Given the description of an element on the screen output the (x, y) to click on. 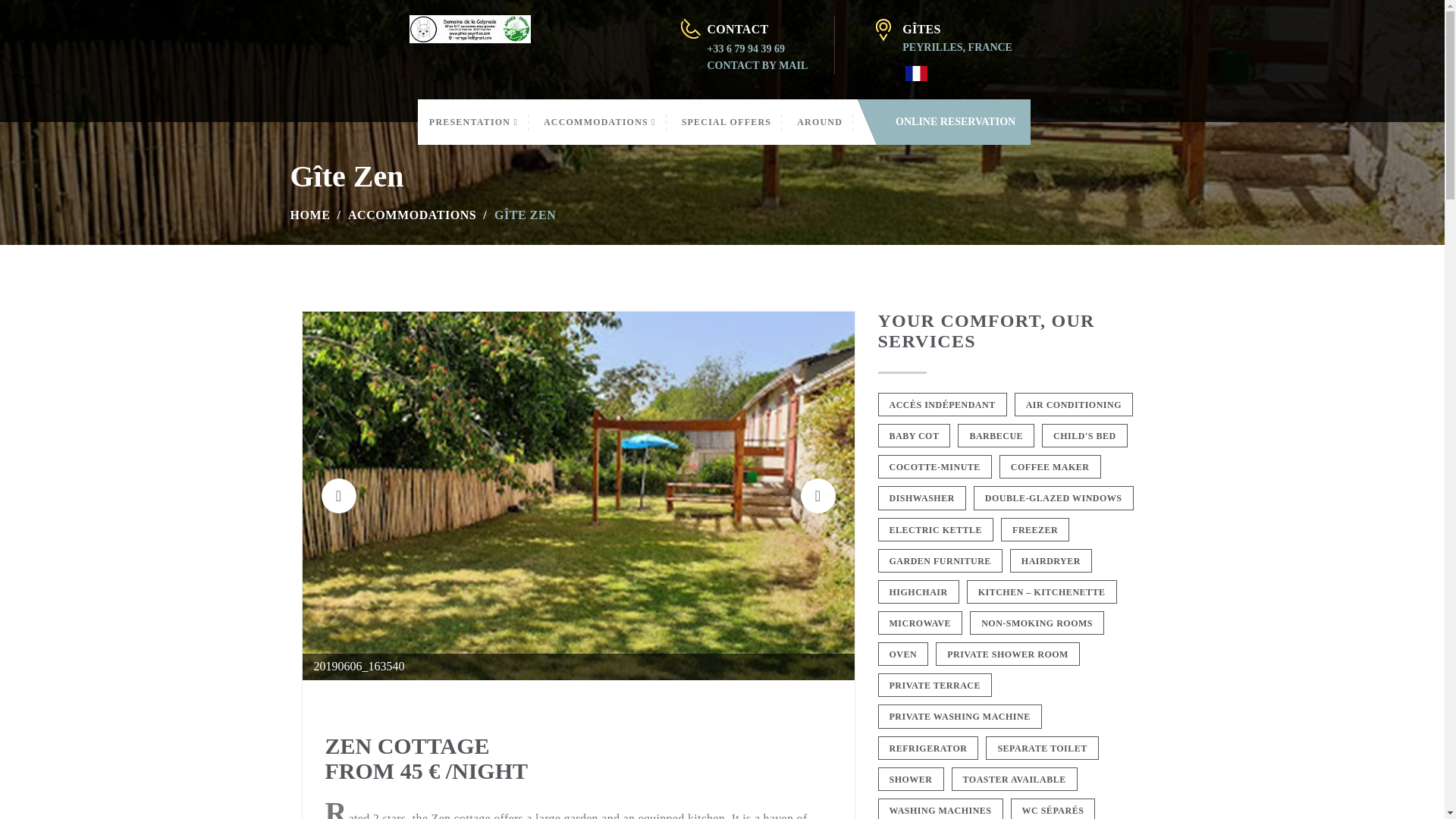
Double-glazed windows (1054, 497)
Highchair  (918, 591)
PRESENTATION (473, 121)
Child's bed (1084, 435)
Accommodations (599, 121)
ONLINE RESERVATION (955, 121)
SPECIAL OFFERS (726, 121)
Domaine de la Calprade (470, 27)
Barbecue (995, 435)
Electric kettle (935, 529)
Air conditioning (1073, 404)
ACCOMMODATIONS (599, 121)
ACCOMMODATIONS (411, 214)
AROUND (819, 121)
Hairdryer (1051, 560)
